Given the description of an element on the screen output the (x, y) to click on. 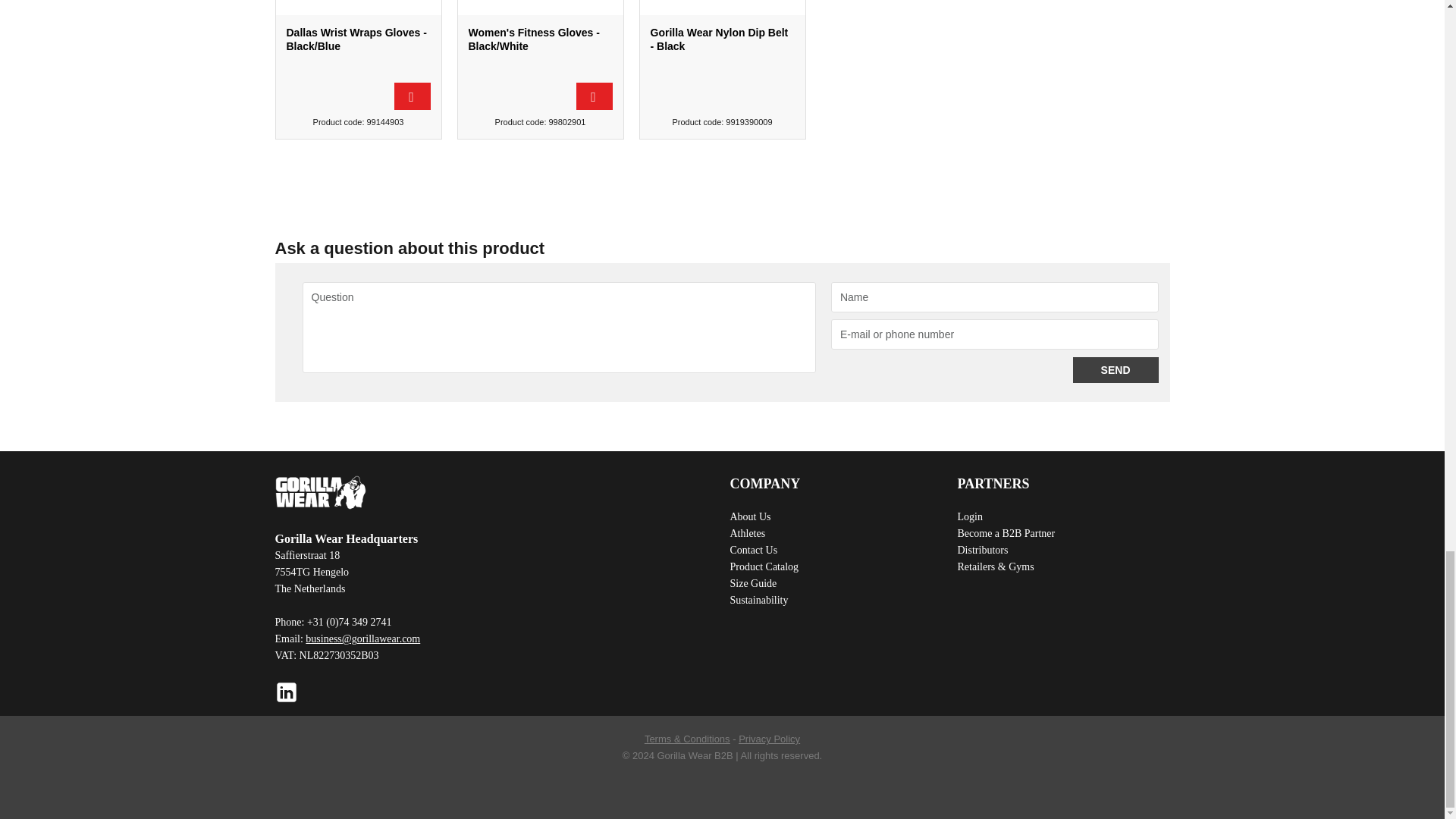
Send (1115, 370)
